Given the description of an element on the screen output the (x, y) to click on. 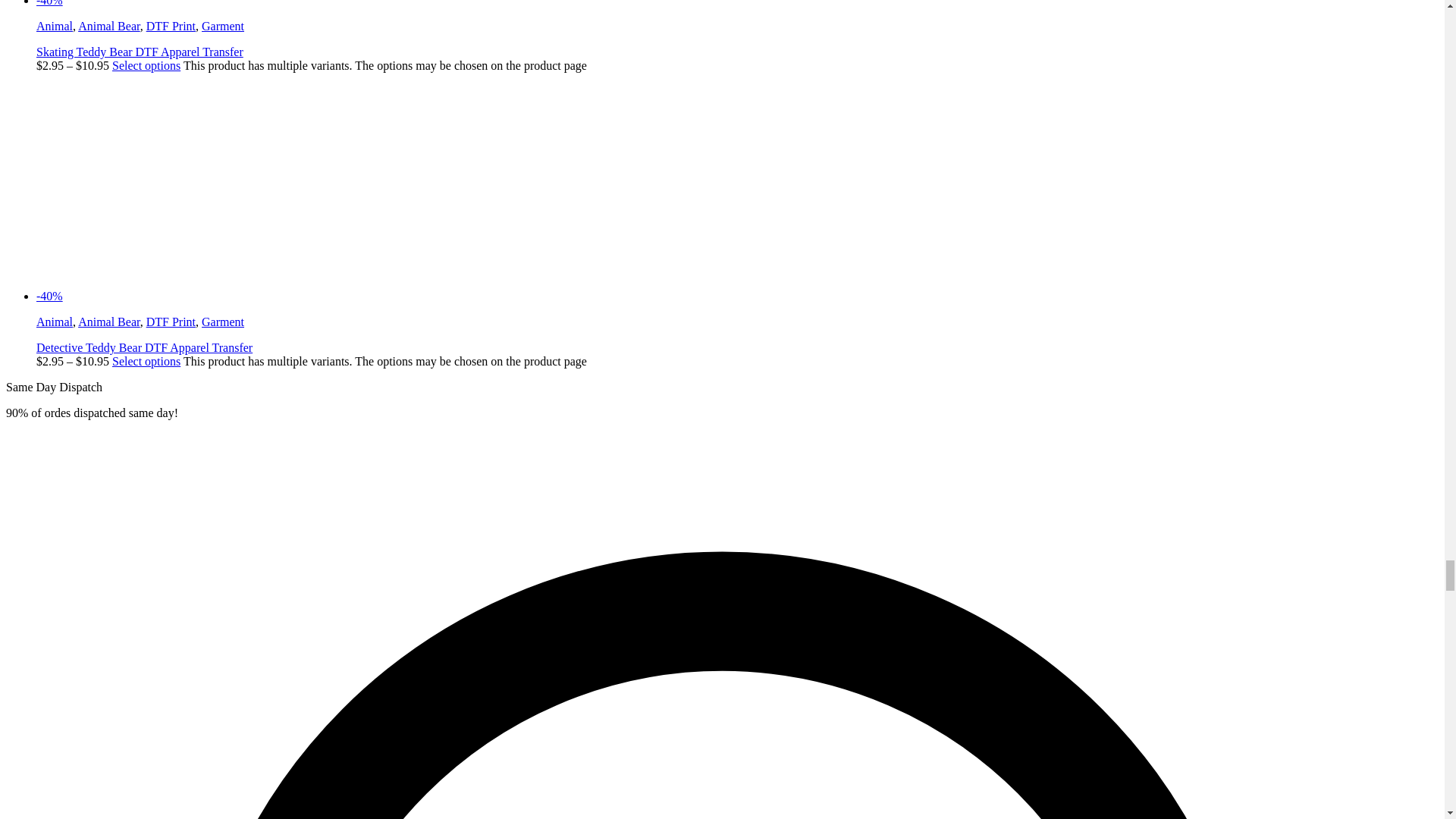
Skating Teddy Bear DTF Apparel Transfer (162, 3)
Detective Teddy Bear DTF Apparel Transfer (162, 295)
